Given the description of an element on the screen output the (x, y) to click on. 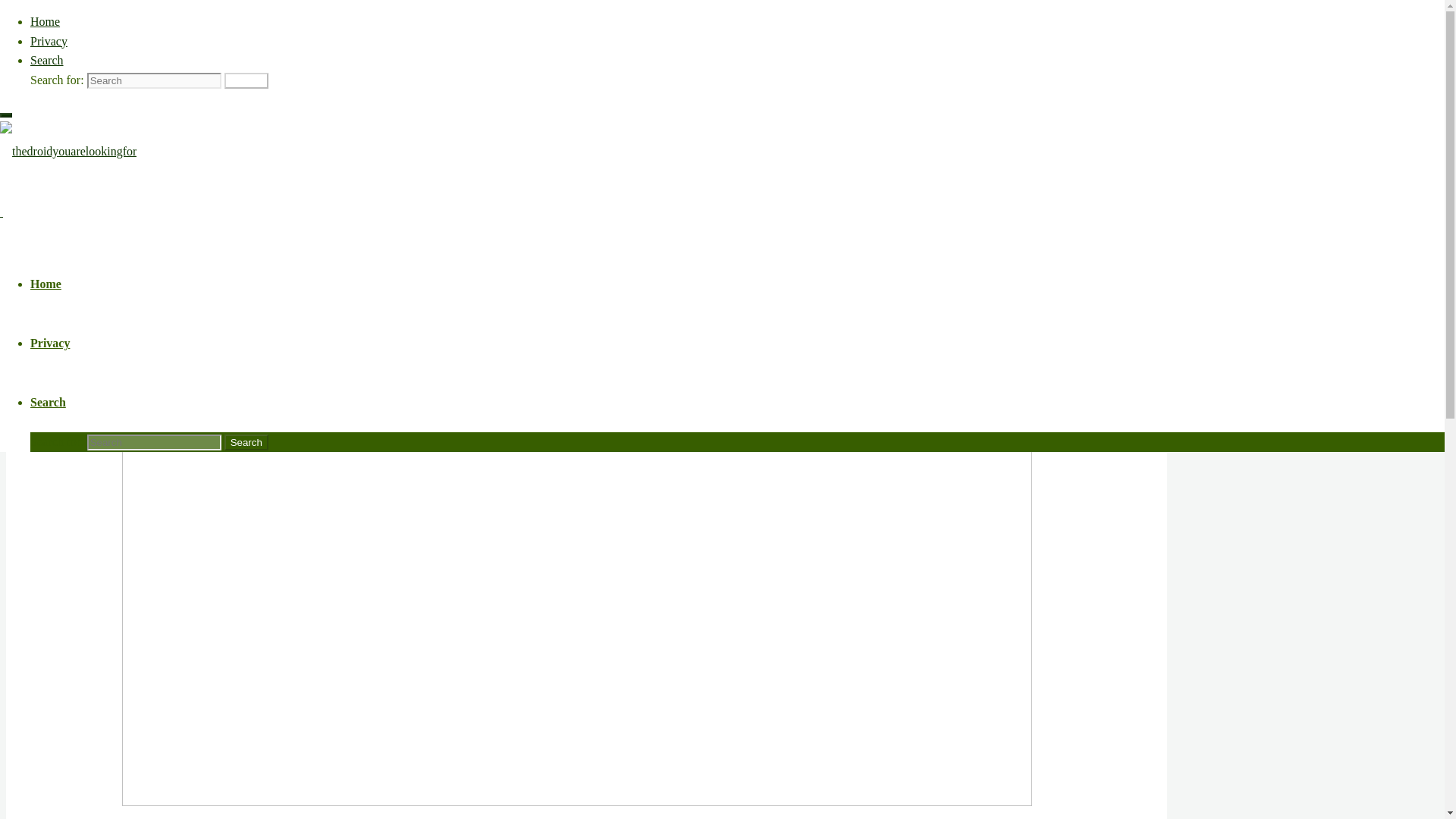
Doly (473, 272)
Search (245, 80)
Home (45, 283)
Personal Robot (617, 272)
thedroidyouarelookingfor (68, 151)
Search (245, 442)
Desktop Pet (184, 114)
Skip to content (42, 15)
Search (47, 60)
Search (47, 401)
Desktop Pet (148, 153)
Privacy (49, 342)
Home (136, 114)
Crowdfunding (426, 272)
Robots (222, 153)
